Given the description of an element on the screen output the (x, y) to click on. 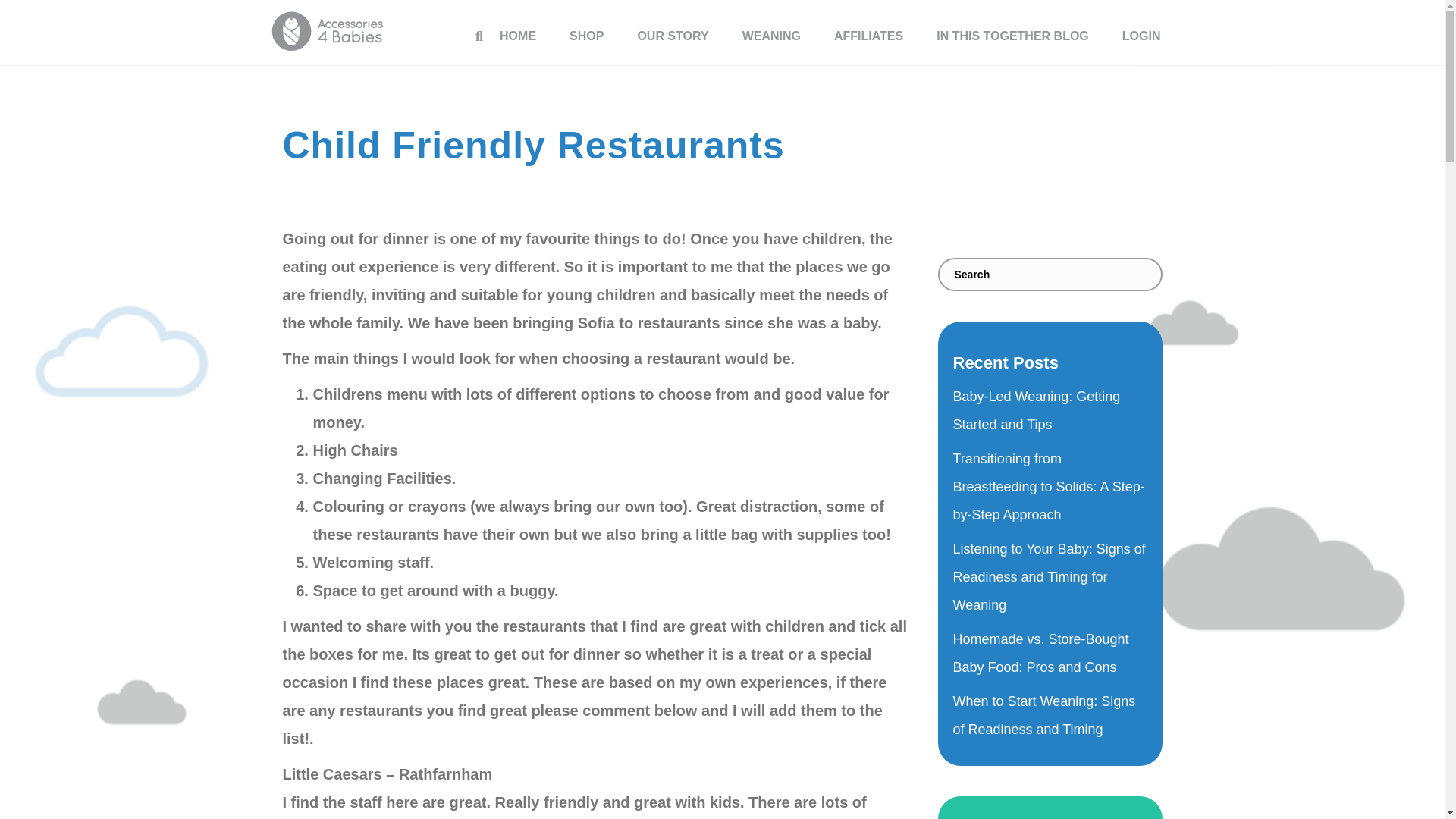
SHOP (586, 36)
HOME (518, 36)
IN THIS TOGETHER BLOG (1012, 36)
Type and press Enter to search. (1049, 274)
WEANING (770, 36)
LOGIN (1141, 36)
Baby-Led Weaning: Getting Started and Tips (1035, 410)
OUR STORY (672, 36)
AFFILIATES (868, 36)
